Given the description of an element on the screen output the (x, y) to click on. 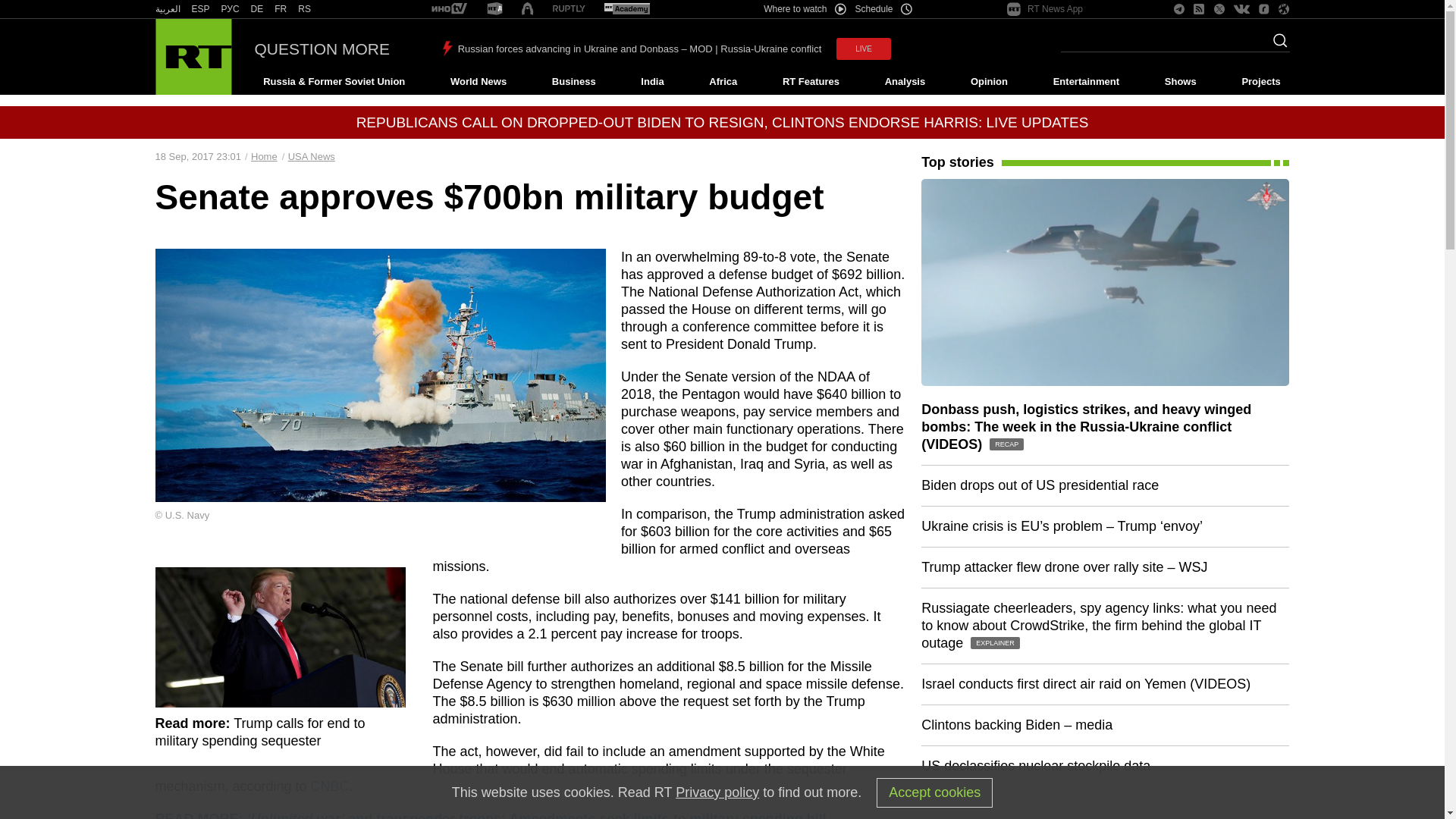
RT  (280, 9)
ESP (199, 9)
Opinion (988, 81)
QUESTION MORE (322, 48)
RT  (230, 9)
India (651, 81)
Projects (1261, 81)
RT  (494, 9)
Where to watch (803, 9)
World News (478, 81)
DE (256, 9)
Analysis (905, 81)
FR (280, 9)
RT  (569, 8)
RS (304, 9)
